Given the description of an element on the screen output the (x, y) to click on. 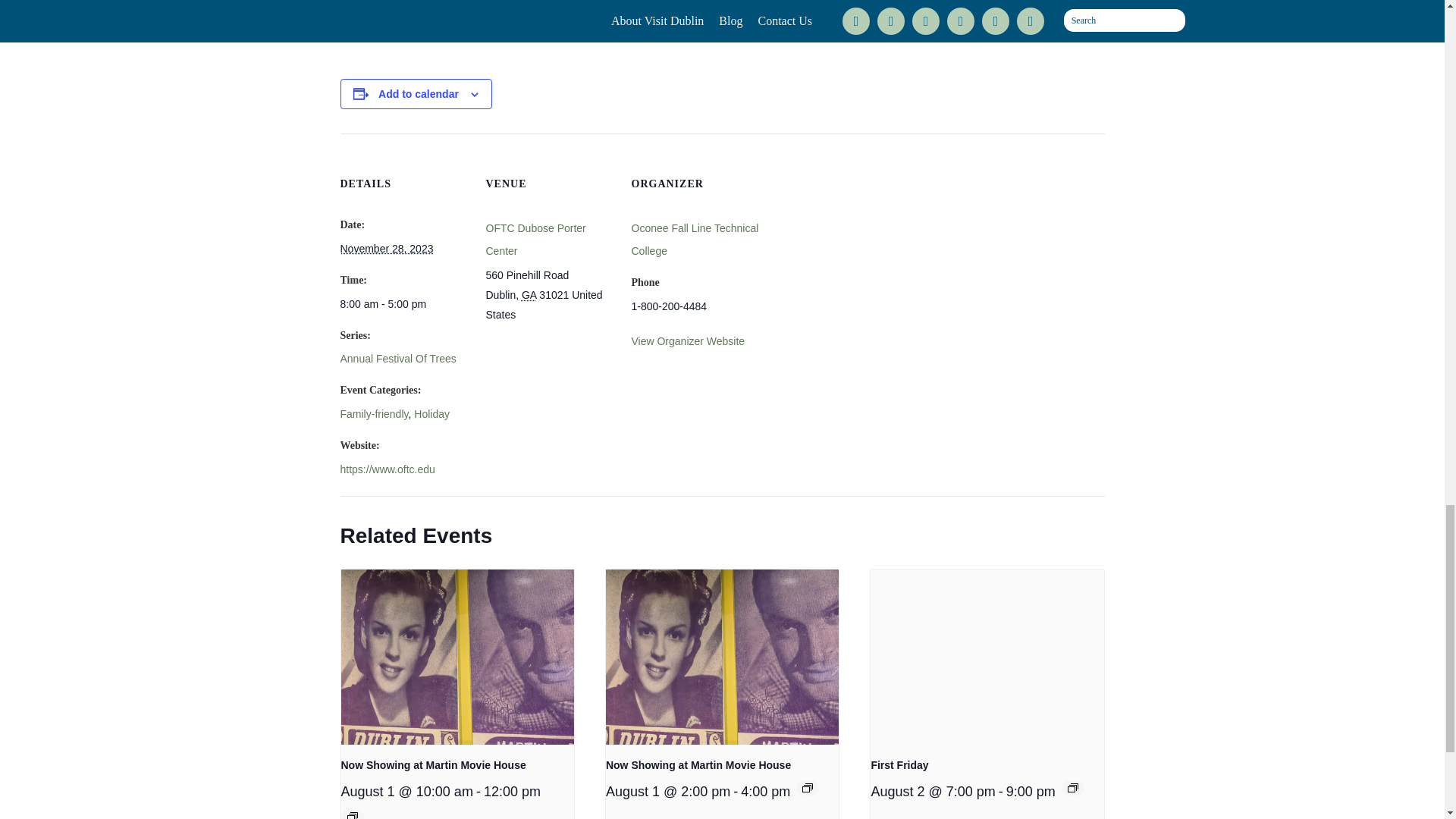
Event Series (807, 786)
Oconee Fall Line Technical College (694, 239)
Annual Festival Of Trees (397, 358)
2023-11-28 (385, 248)
OFTC Dubose Porter Center (534, 239)
Event Series (352, 815)
Annual Festival Of Trees (397, 358)
2023-11-28 (403, 303)
Add to calendar (418, 93)
Holiday (431, 413)
Event Series (1072, 786)
Family-friendly (373, 413)
Georgia (528, 295)
